Given the description of an element on the screen output the (x, y) to click on. 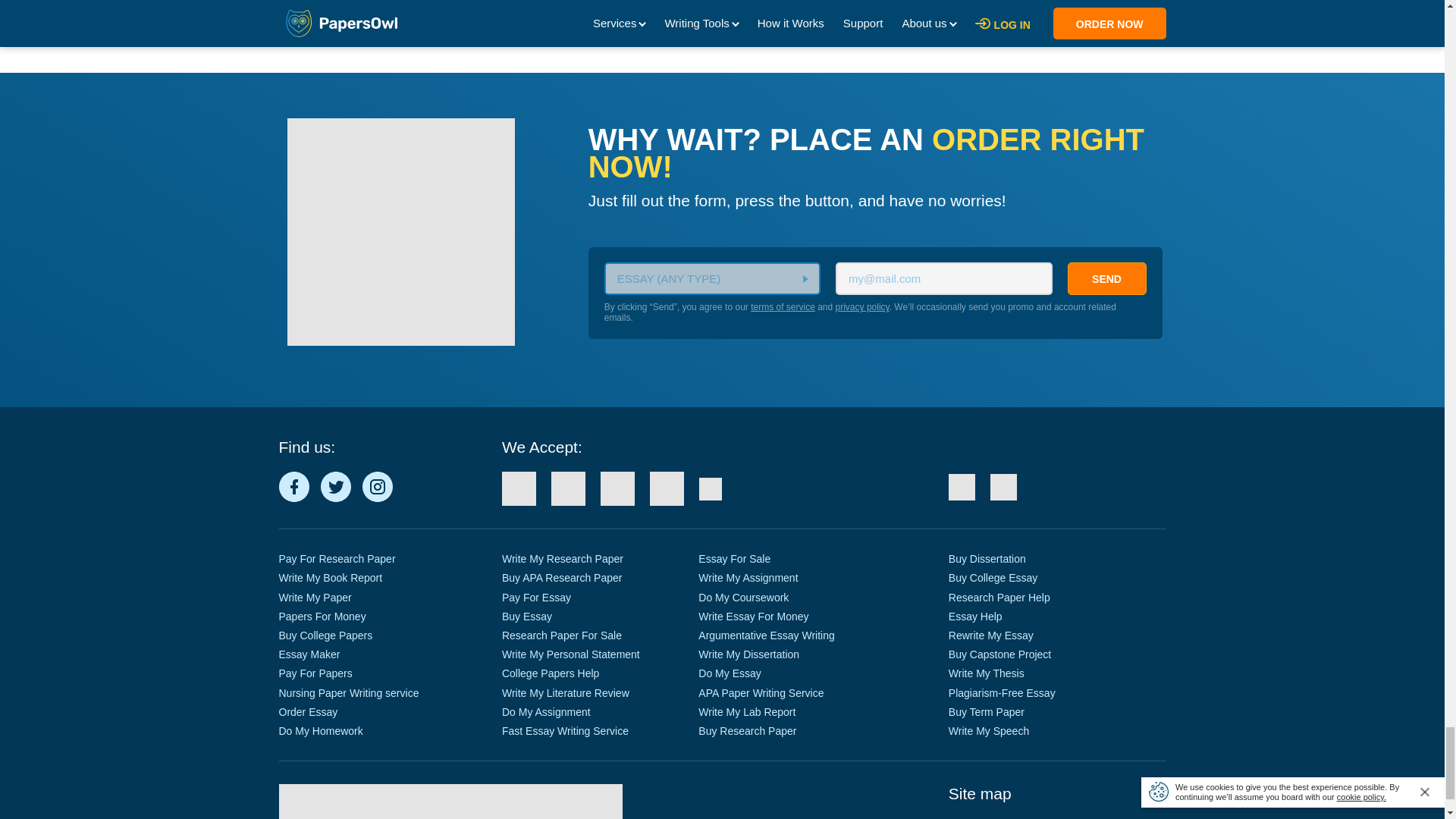
Quality essay writing service in CA (962, 487)
Quality essay writing service in UK (1003, 487)
